Given the description of an element on the screen output the (x, y) to click on. 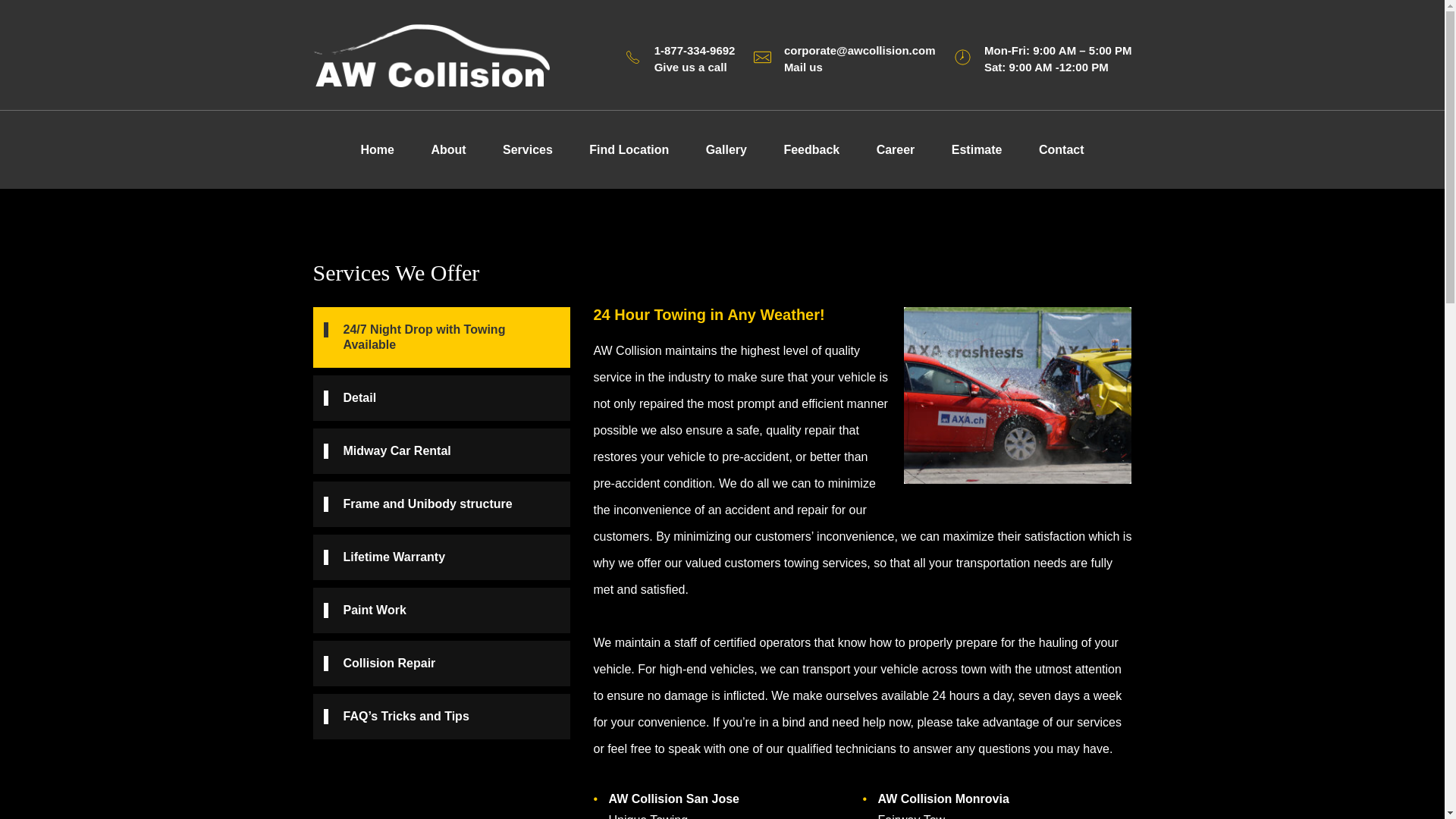
Paint Work (441, 610)
About (447, 149)
Collision Repair (441, 663)
Contact (1061, 149)
Home (376, 149)
1-877-334-9692 (694, 50)
Detail (441, 397)
Lifetime Warranty (441, 556)
Gallery (725, 149)
Find Location (628, 149)
Frame and Unibody structure (441, 504)
Estimate (976, 149)
Career (895, 149)
Feedback (811, 149)
Midway Car Rental (441, 451)
